Given the description of an element on the screen output the (x, y) to click on. 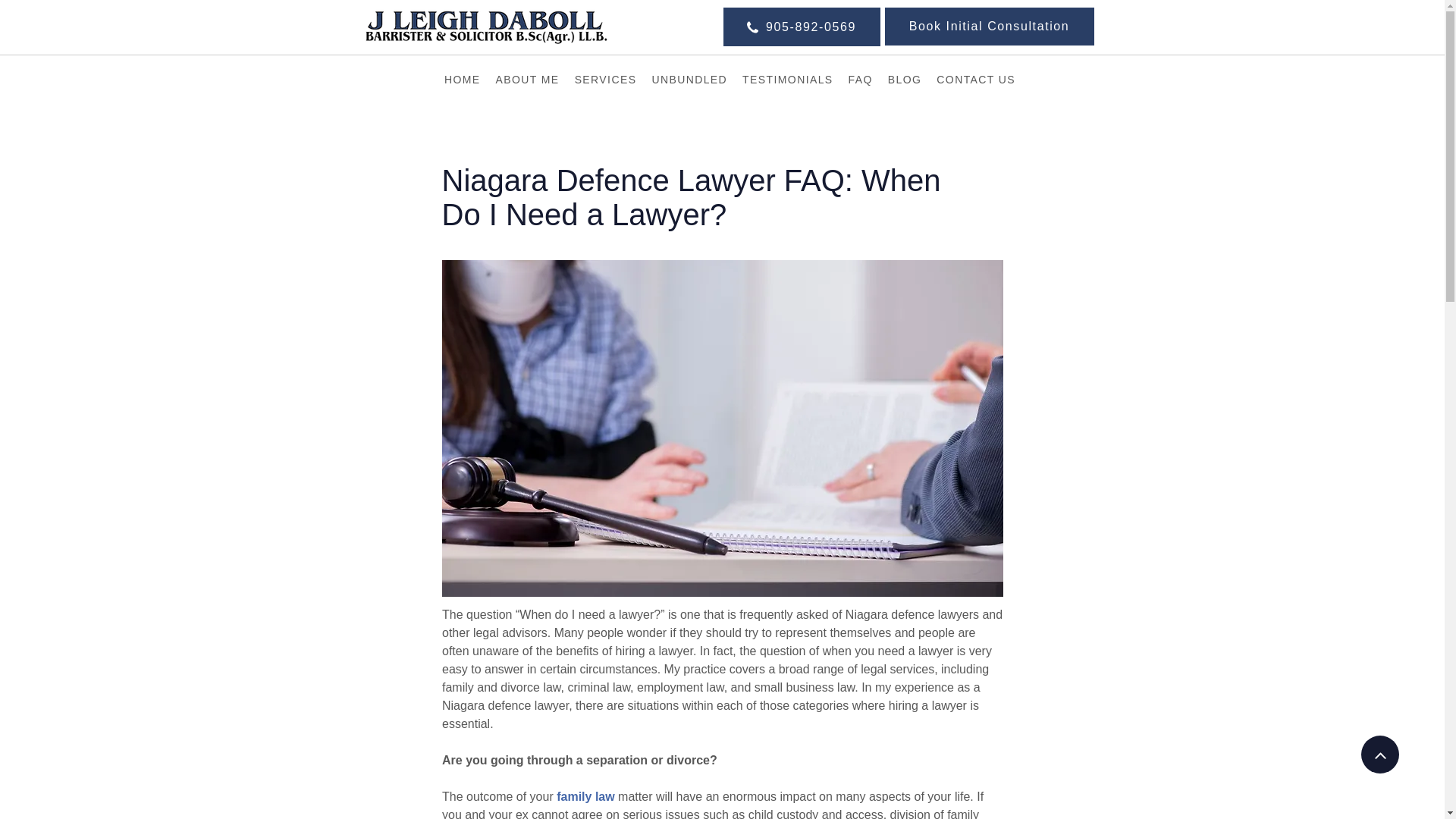
Book Initial Consultation (988, 26)
family law (585, 796)
FAQ (860, 80)
BLOG (904, 80)
UNBUNDLED (688, 80)
ABOUT ME (527, 80)
SERVICES (606, 80)
905-892-0569 (801, 26)
HOME (462, 80)
CONTACT US (975, 80)
TESTIMONIALS (787, 80)
